Given the description of an element on the screen output the (x, y) to click on. 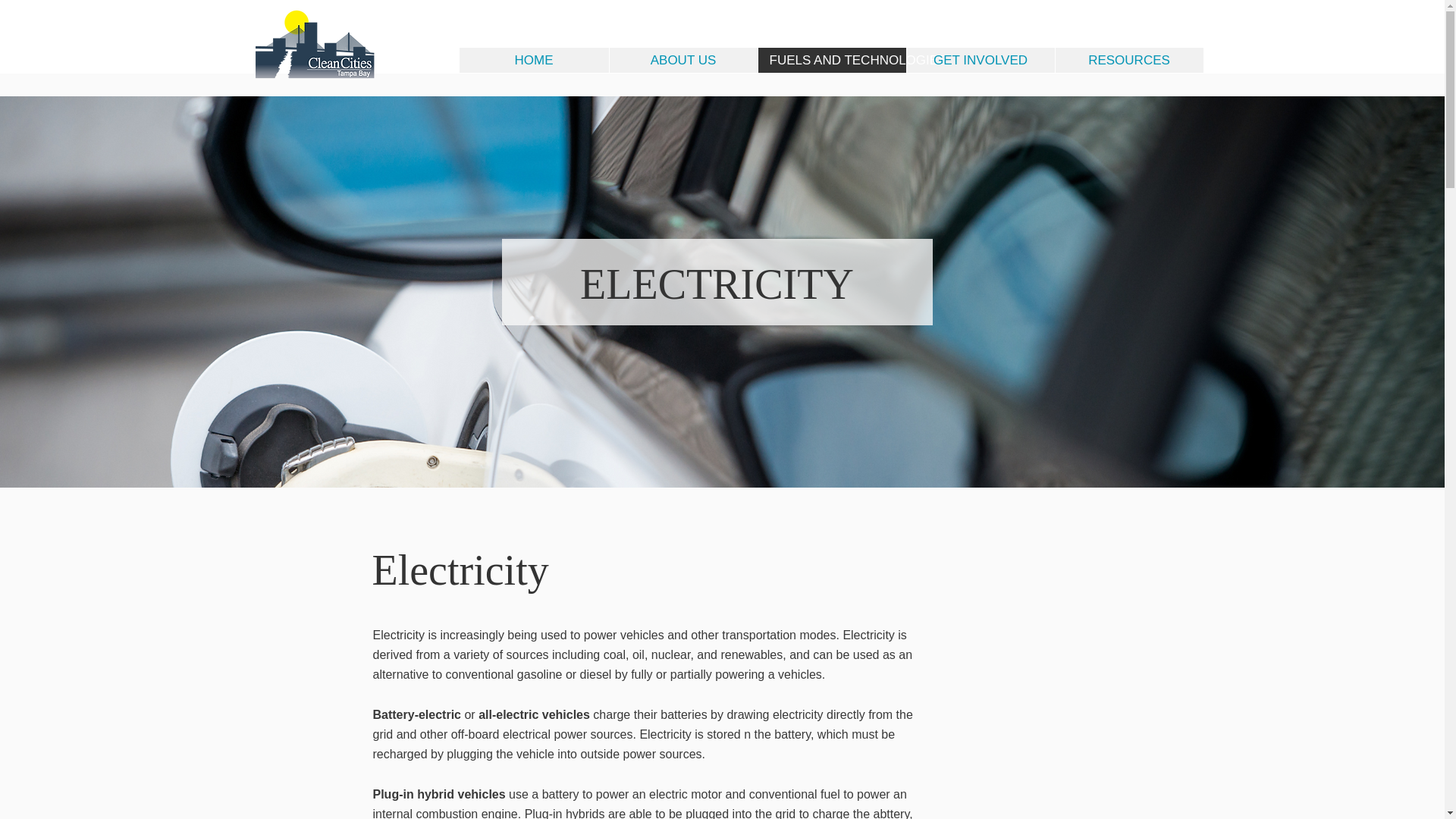
GET INVOLVED (979, 59)
RESOURCES (1128, 59)
FUELS AND TECHNOLOGIES (831, 59)
ABOUT US (682, 59)
HOME (534, 59)
